Given the description of an element on the screen output the (x, y) to click on. 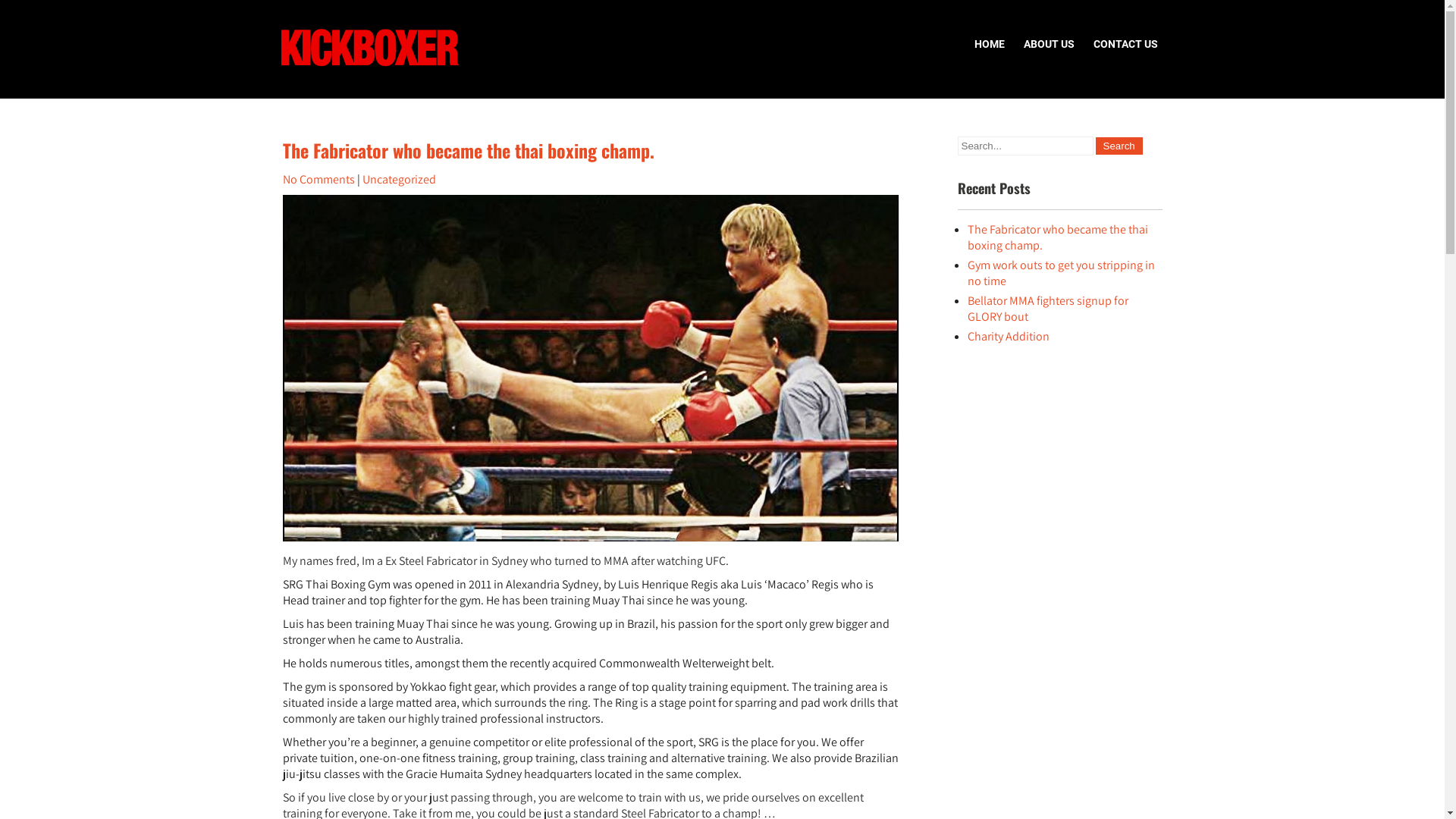
Bellator MMA fighters signup for GLORY bout Element type: text (1047, 308)
Uncategorized Element type: text (399, 179)
The Fabricator who became the thai boxing champ. Element type: text (467, 149)
Steel Fabricator in Sydney Element type: text (462, 560)
ABOUT US Element type: text (1048, 43)
Charity Addition Element type: text (1008, 336)
CONTACT US Element type: text (1124, 43)
No Comments Element type: text (318, 179)
Search Element type: text (1118, 145)
Gym work outs to get you stripping in no time Element type: text (1060, 272)
HOME Element type: text (989, 43)
The Fabricator who became the thai boxing champ. Element type: text (1057, 237)
Kick boxer magazine. Element type: text (393, 105)
